Given the description of an element on the screen output the (x, y) to click on. 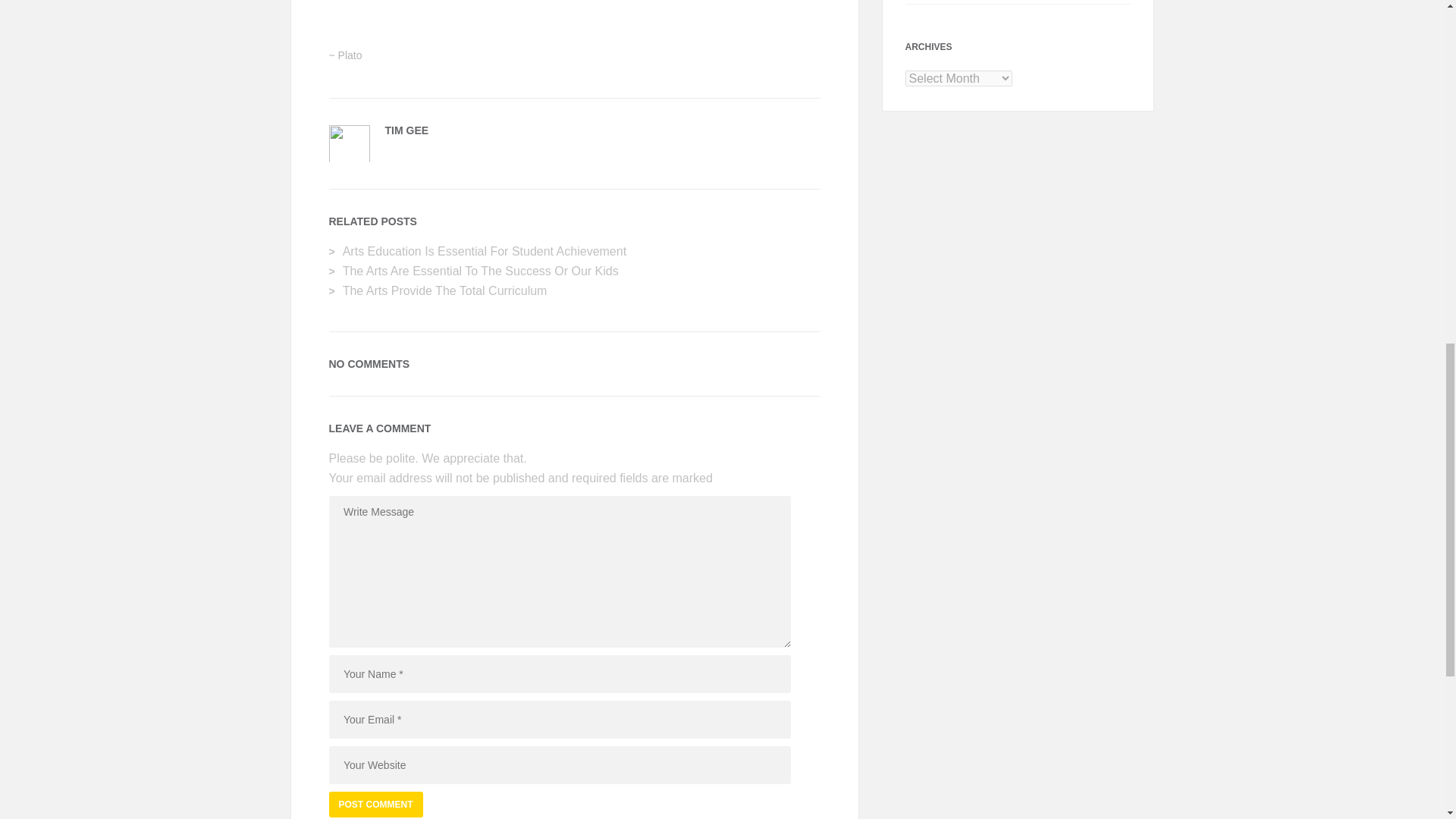
TIM GEE (407, 130)
Post Comment (376, 804)
The Arts Provide The Total Curriculum (444, 290)
Post Comment (376, 804)
Arts Education Is Essential For Student Achievement (484, 250)
The Arts Are Essential To The Success Or Our Kids (480, 270)
